Given the description of an element on the screen output the (x, y) to click on. 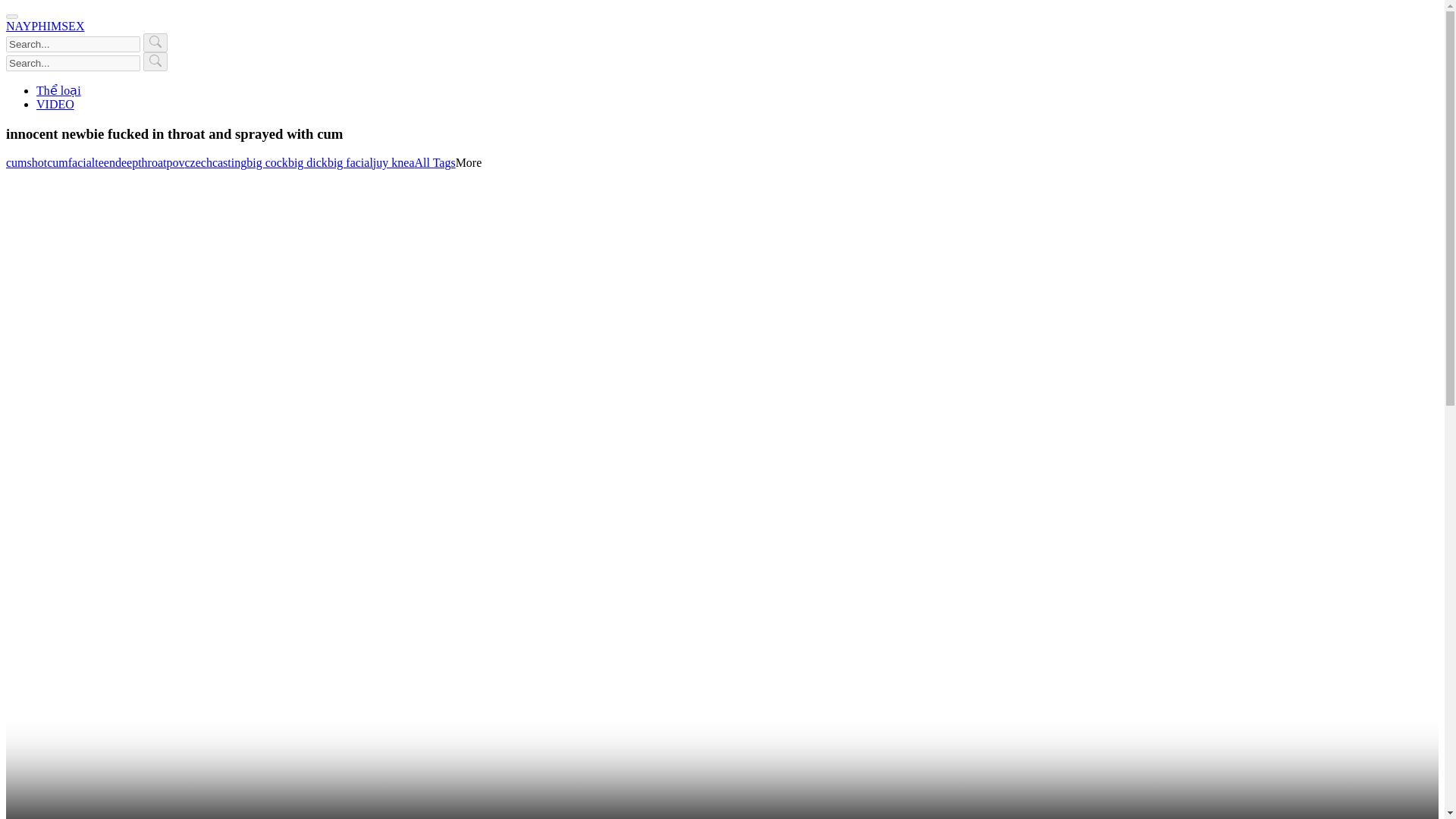
deepthroat (141, 162)
facial (82, 162)
pov (174, 162)
Search (154, 42)
cum (57, 162)
big cock (267, 162)
Search... (72, 44)
More (468, 162)
big dick (307, 162)
big facial (349, 162)
NAYPHIMSEX (44, 25)
big cock (267, 162)
juy knea (393, 162)
big facial (349, 162)
casting (229, 162)
